Given the description of an element on the screen output the (x, y) to click on. 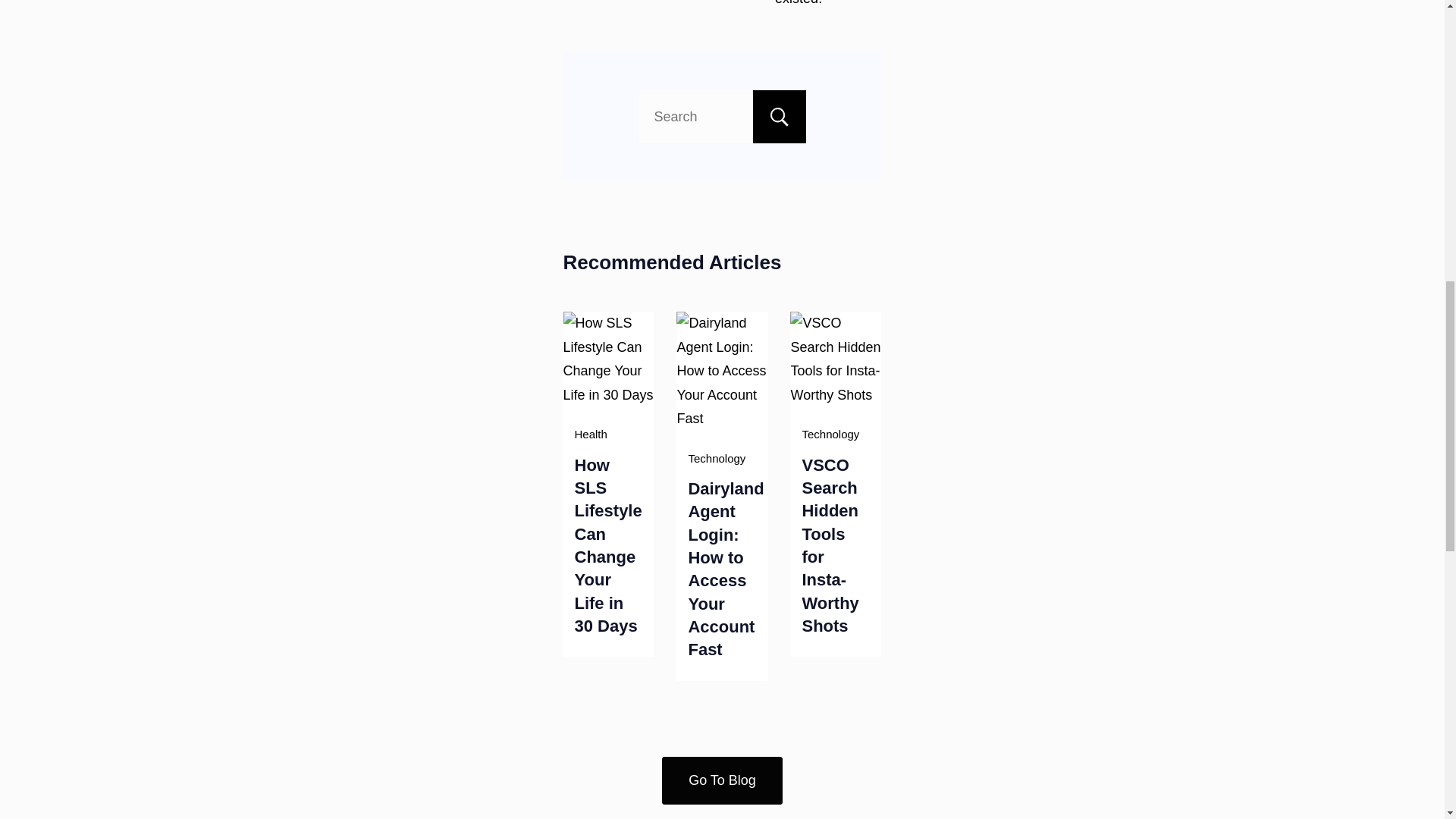
Search (778, 116)
Health (591, 433)
Search Input (722, 116)
Technology (716, 458)
Search (778, 116)
Search (778, 116)
